Given the description of an element on the screen output the (x, y) to click on. 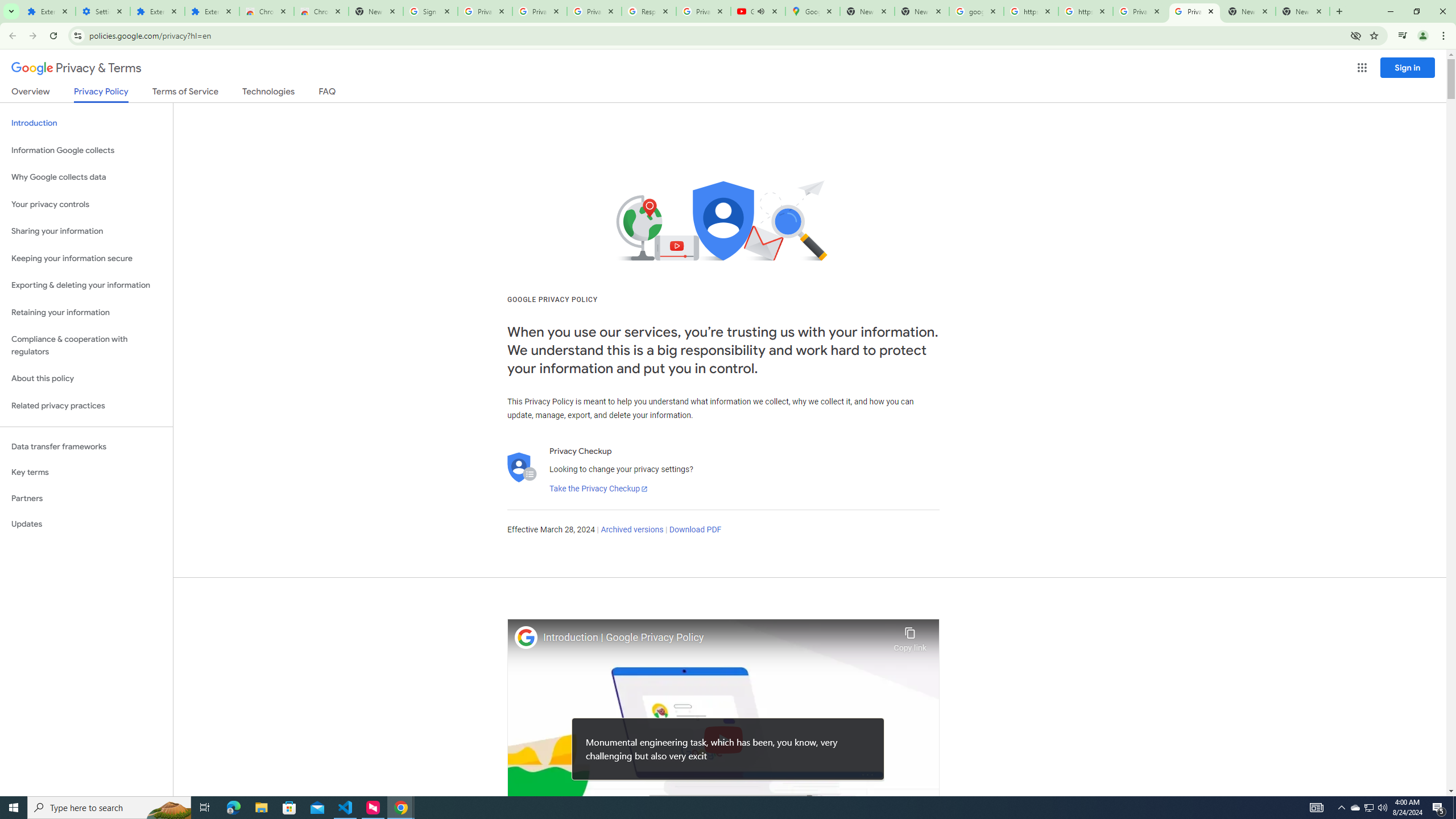
Take the Privacy Checkup (597, 488)
Extensions (48, 11)
Extensions (157, 11)
New Tab (1303, 11)
https://scholar.google.com/ (1030, 11)
